Given the description of an element on the screen output the (x, y) to click on. 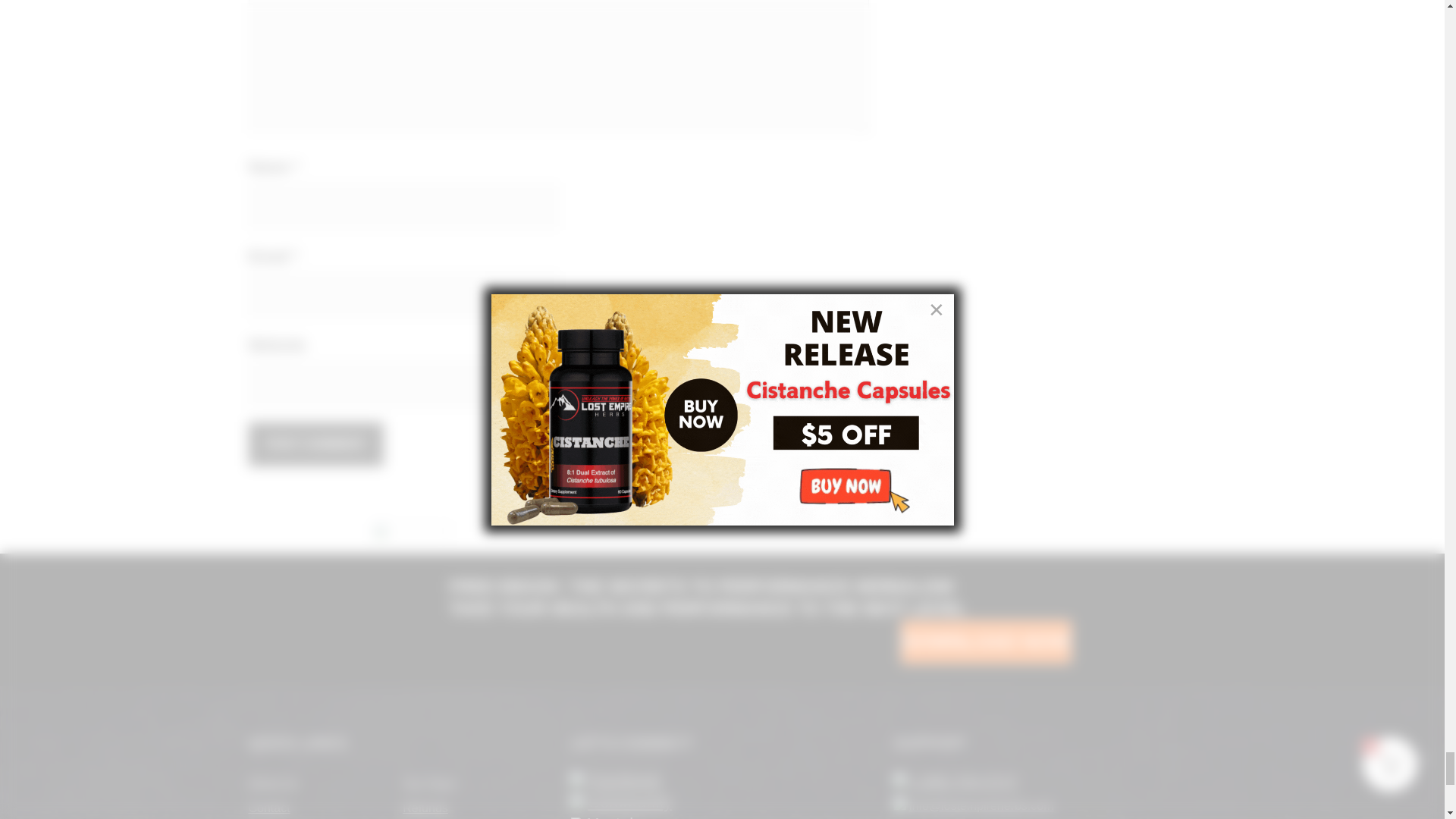
Post Comment (316, 444)
